Given the description of an element on the screen output the (x, y) to click on. 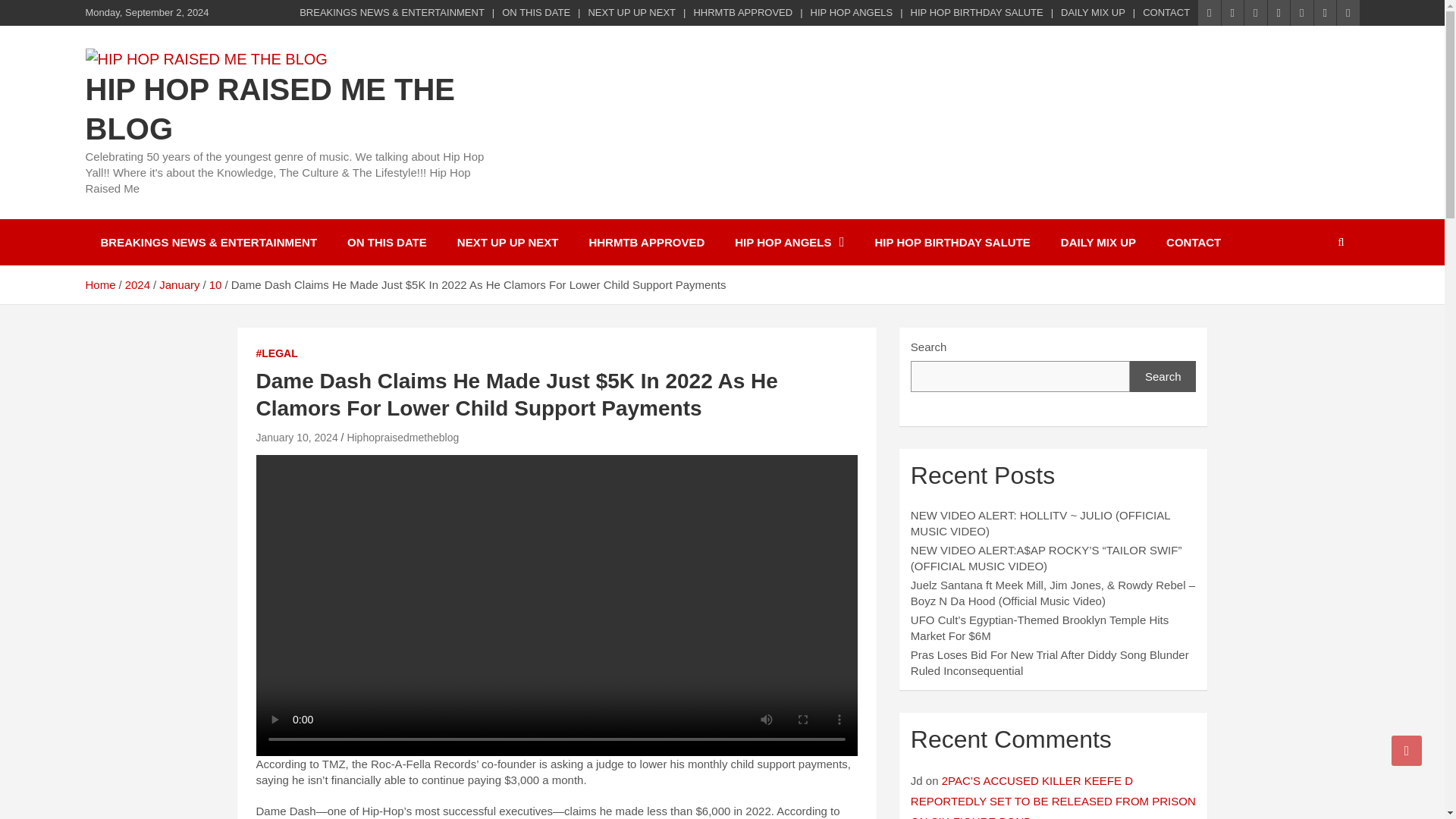
ON THIS DATE (536, 12)
January 10, 2024 (296, 437)
HHRMTB APPROVED (742, 12)
DAILY MIX UP (1098, 242)
10 (215, 284)
2024 (137, 284)
HHRMTB APPROVED (646, 242)
CONTACT (1165, 12)
HIP HOP ANGELS (789, 242)
HIP HOP BIRTHDAY SALUTE (952, 242)
